Given the description of an element on the screen output the (x, y) to click on. 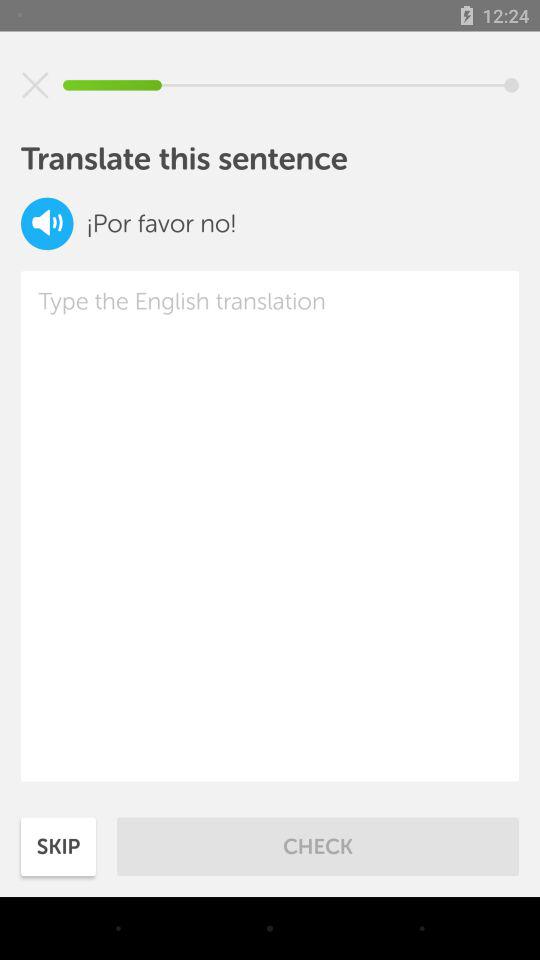
cancel input (35, 85)
